Given the description of an element on the screen output the (x, y) to click on. 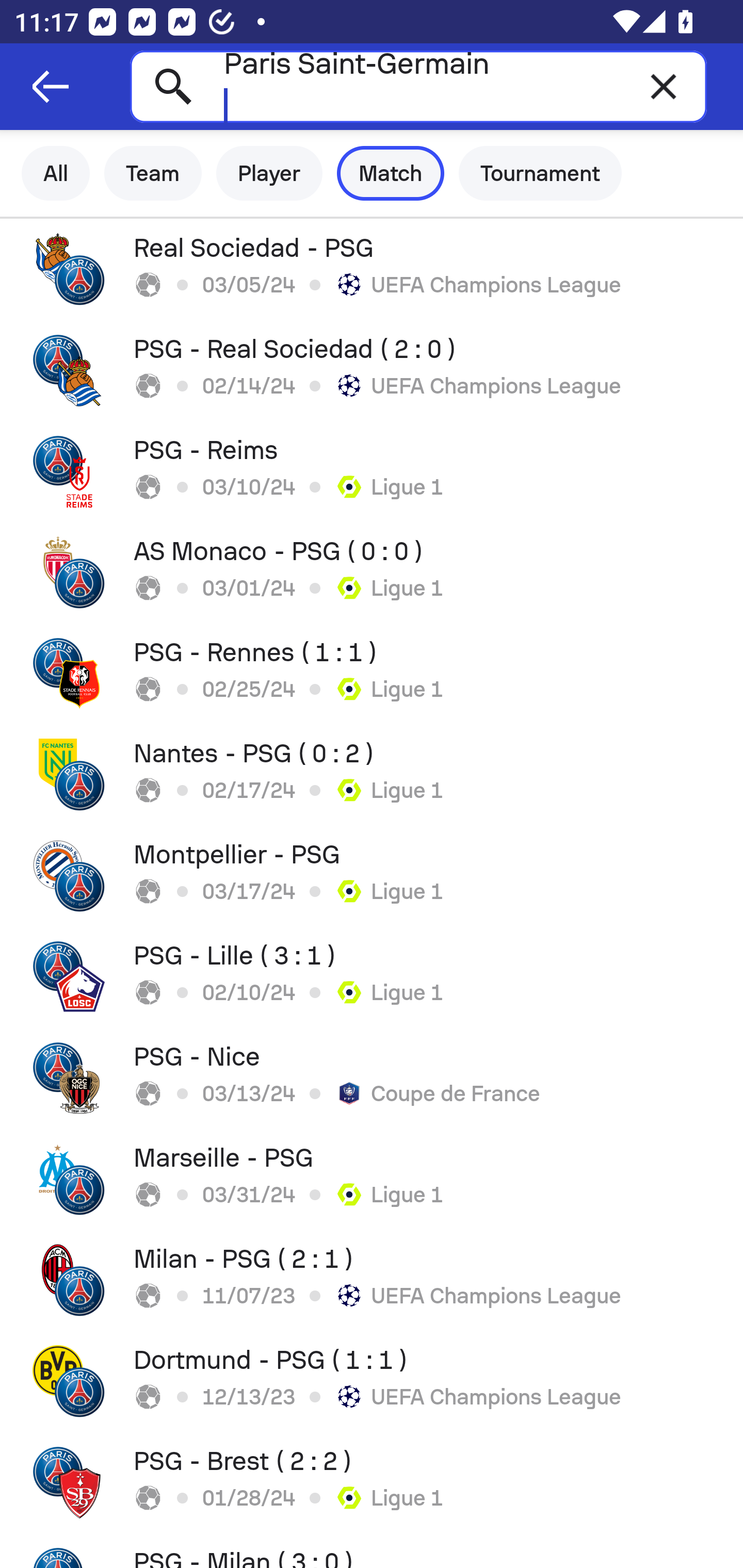
Navigate up (50, 86)
Paris Saint-Germain
 (418, 86)
Clear text (663, 86)
All (55, 172)
Team (152, 172)
Player (268, 172)
Match (390, 172)
Tournament (540, 172)
Real Sociedad - PSG 03/05/24 UEFA Champions League (371, 268)
PSG - Reims 03/10/24 Ligue 1 (371, 471)
AS Monaco - PSG ( 0 : 0 ) 03/01/24 Ligue 1 (371, 572)
PSG - Rennes ( 1 : 1 ) 02/25/24 Ligue 1 (371, 673)
Nantes - PSG ( 0 : 2 ) 02/17/24 Ligue 1 (371, 774)
Montpellier - PSG 03/17/24 Ligue 1 (371, 875)
PSG - Lille ( 3 : 1 ) 02/10/24 Ligue 1 (371, 976)
PSG - Nice 03/13/24 Coupe de France (371, 1077)
Marseille - PSG 03/31/24 Ligue 1 (371, 1178)
PSG - Brest ( 2 : 2 ) 01/28/24 Ligue 1 (371, 1482)
